Given the description of an element on the screen output the (x, y) to click on. 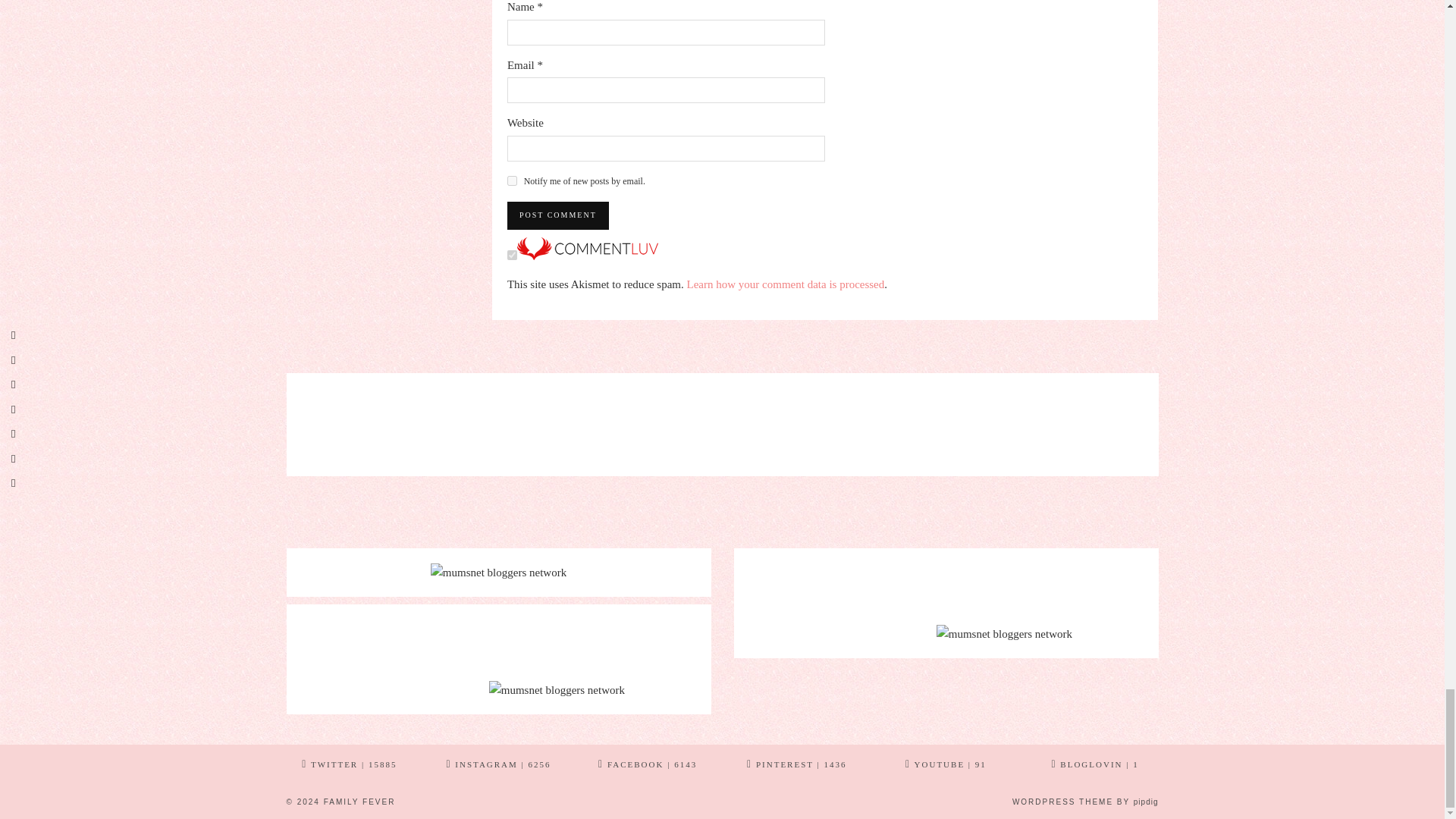
Post Comment (557, 215)
on (511, 255)
CommentLuv is enabled (587, 256)
subscribe (511, 180)
